Given the description of an element on the screen output the (x, y) to click on. 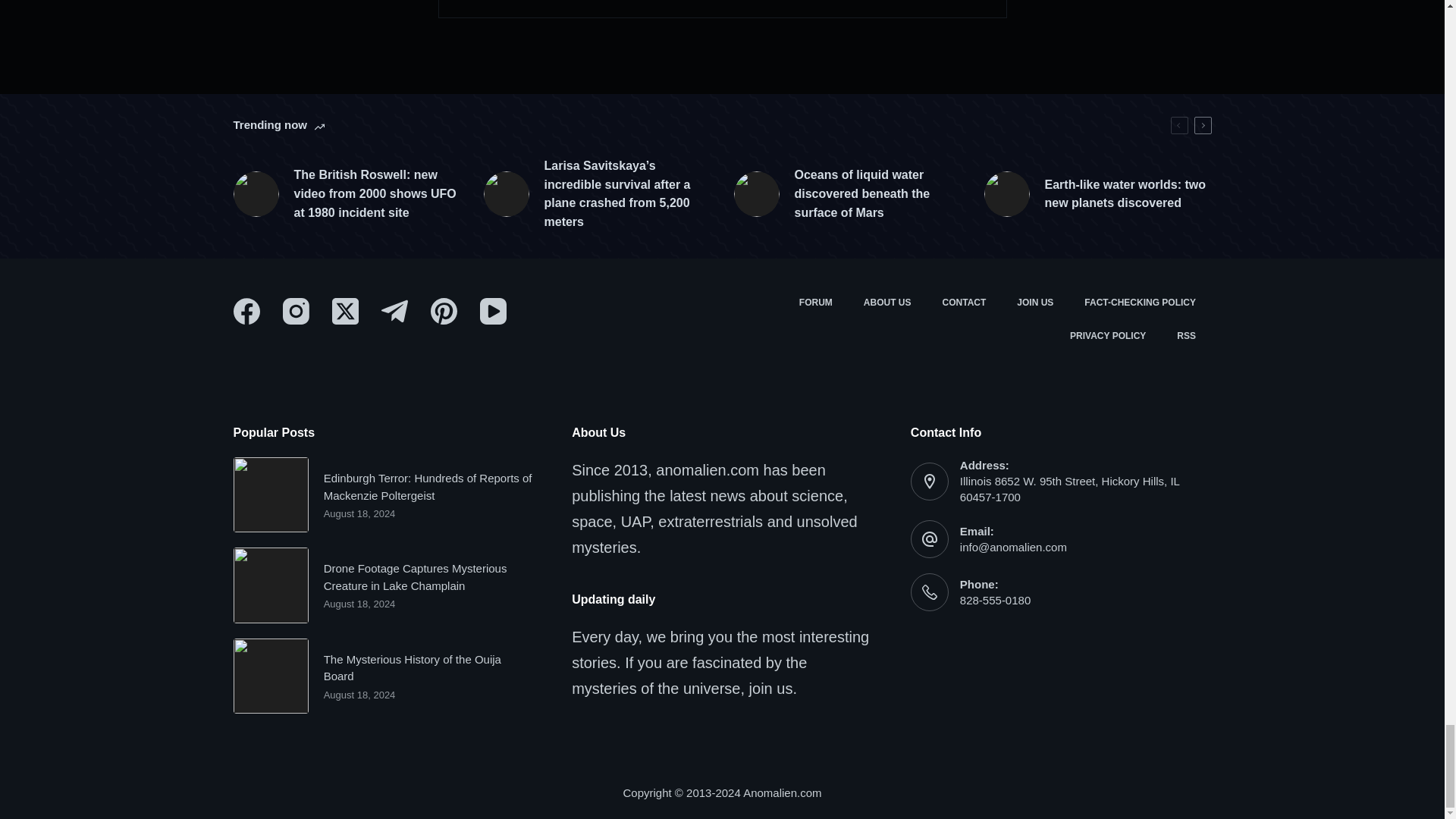
Comments (722, 9)
Discussion Forum (815, 303)
Contact us (964, 303)
